Given the description of an element on the screen output the (x, y) to click on. 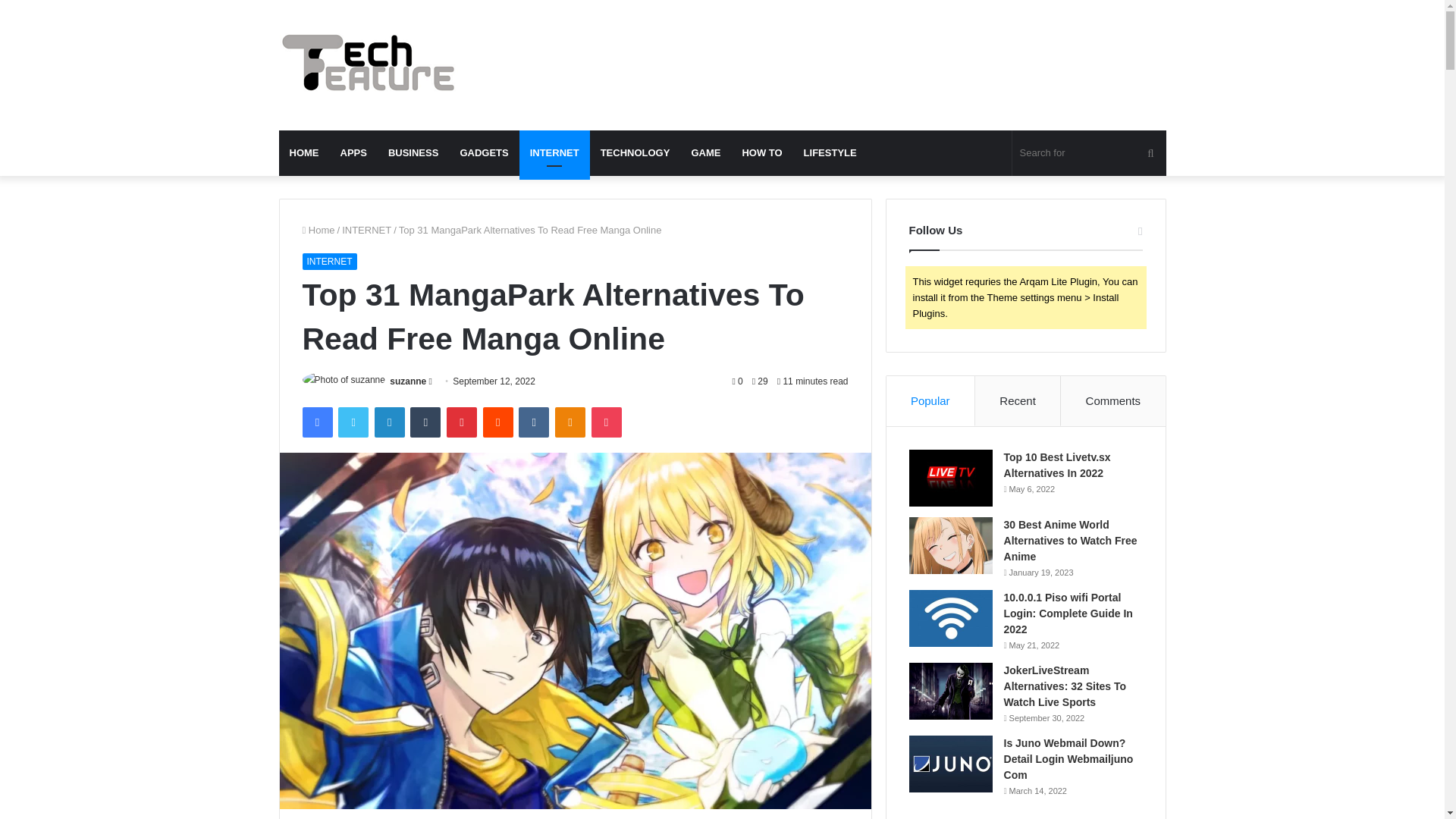
Facebook (316, 422)
INTERNET (554, 153)
Odnoklassniki (569, 422)
Pocket (606, 422)
Home (317, 229)
VKontakte (533, 422)
HOW TO (761, 153)
suzanne (408, 380)
VKontakte (533, 422)
Search for (1088, 153)
Facebook (316, 422)
Tumblr (425, 422)
HOME (304, 153)
suzanne (408, 380)
INTERNET (366, 229)
